Given the description of an element on the screen output the (x, y) to click on. 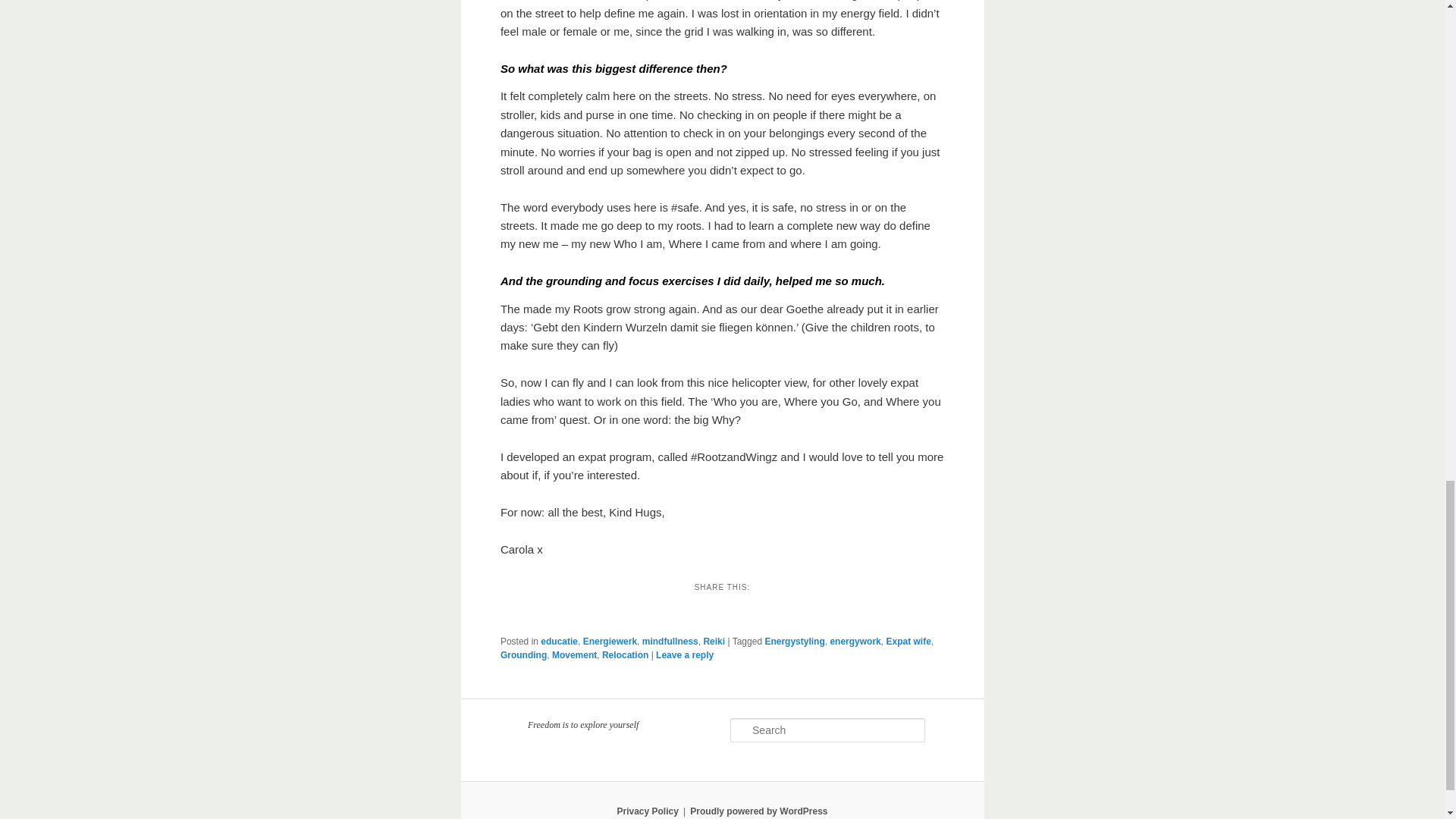
Semantic Personal Publishing Platform (758, 810)
